Given the description of an element on the screen output the (x, y) to click on. 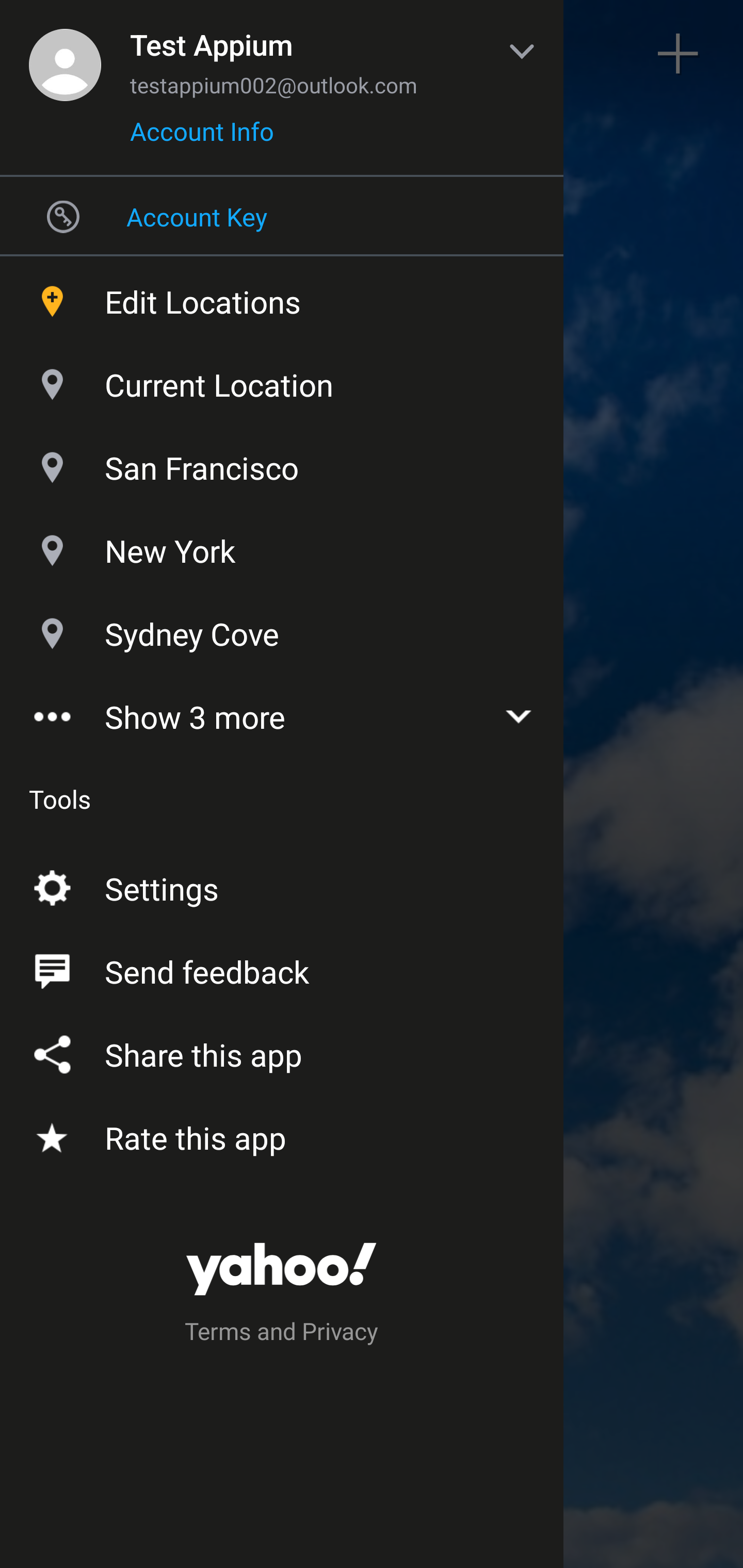
Sidebar (64, 54)
Account Info (202, 137)
Account Key (281, 216)
Edit Locations (281, 296)
Current Location (281, 379)
San Francisco (281, 462)
New York (281, 546)
Sydney Cove (281, 629)
Settings (281, 884)
Send feedback (281, 967)
Share this app (281, 1050)
Terms and Privacy Terms and privacy button (281, 1334)
